Given the description of an element on the screen output the (x, y) to click on. 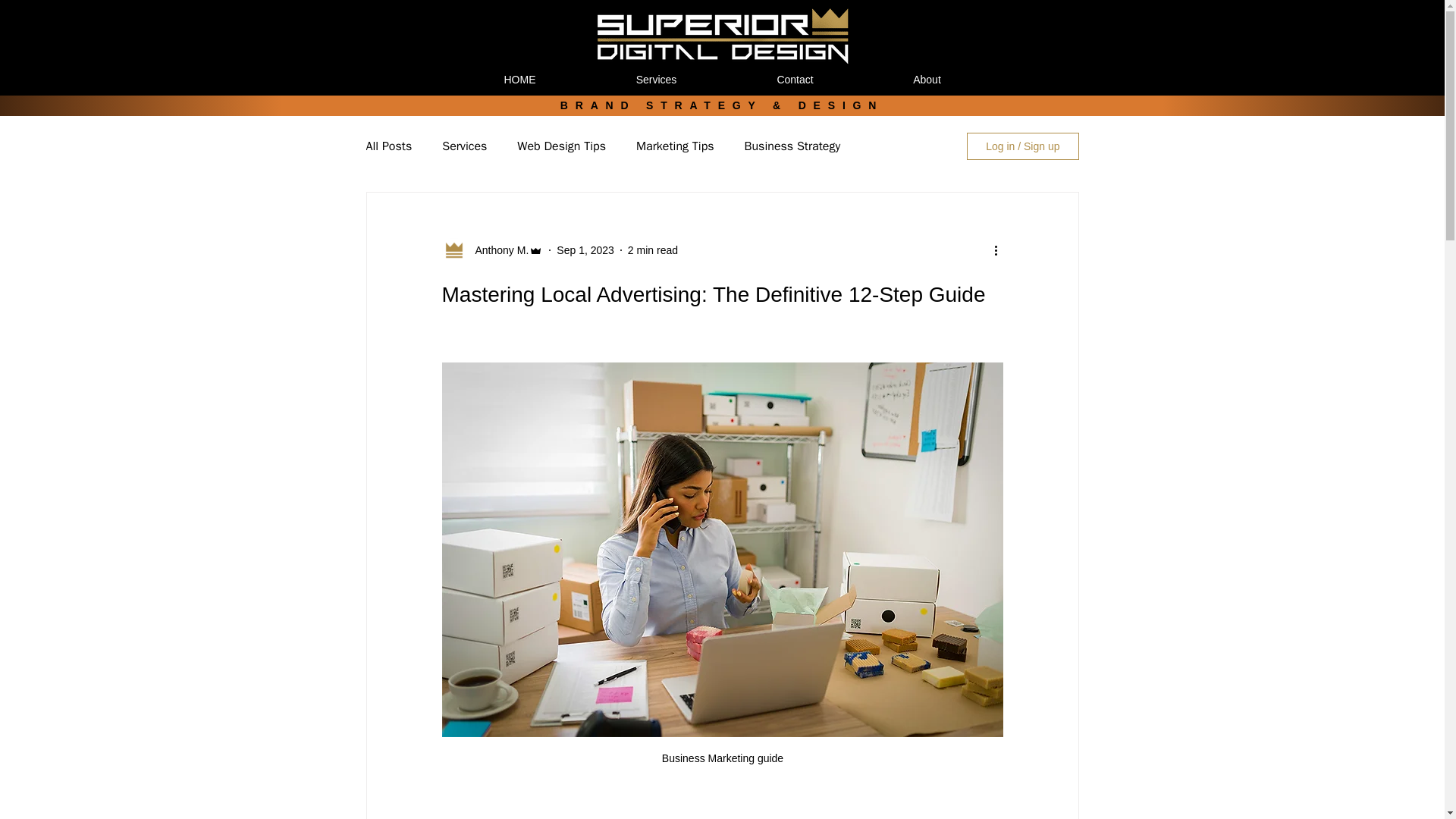
Contact (794, 85)
Sep 1, 2023 (585, 250)
Business Strategy (792, 145)
Services (464, 145)
Web Design Tips (560, 145)
2 min read (652, 250)
HOME (518, 85)
Marketing Tips (675, 145)
About (926, 85)
All Posts (388, 145)
Anthony M. (492, 250)
Services (655, 85)
Anthony M. (496, 250)
